Given the description of an element on the screen output the (x, y) to click on. 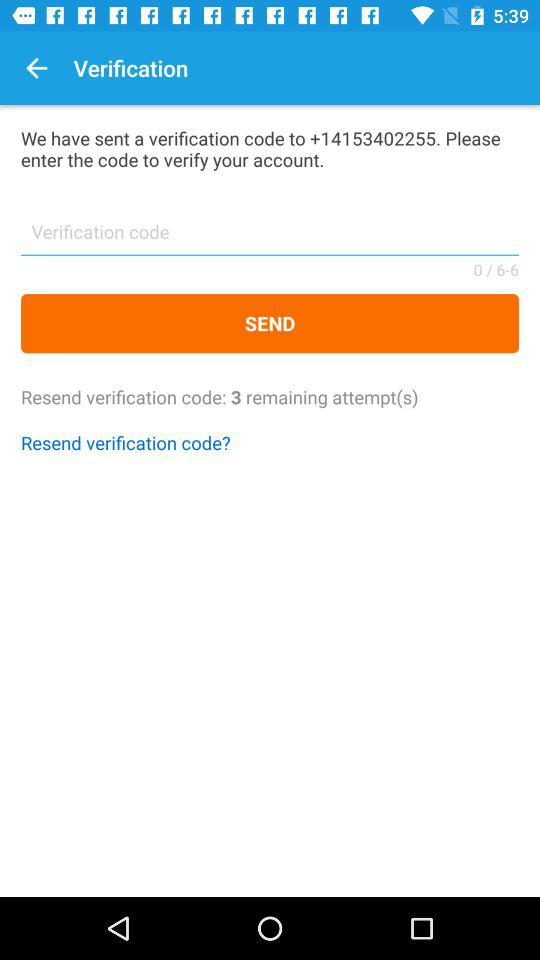
enter verification code (270, 238)
